Given the description of an element on the screen output the (x, y) to click on. 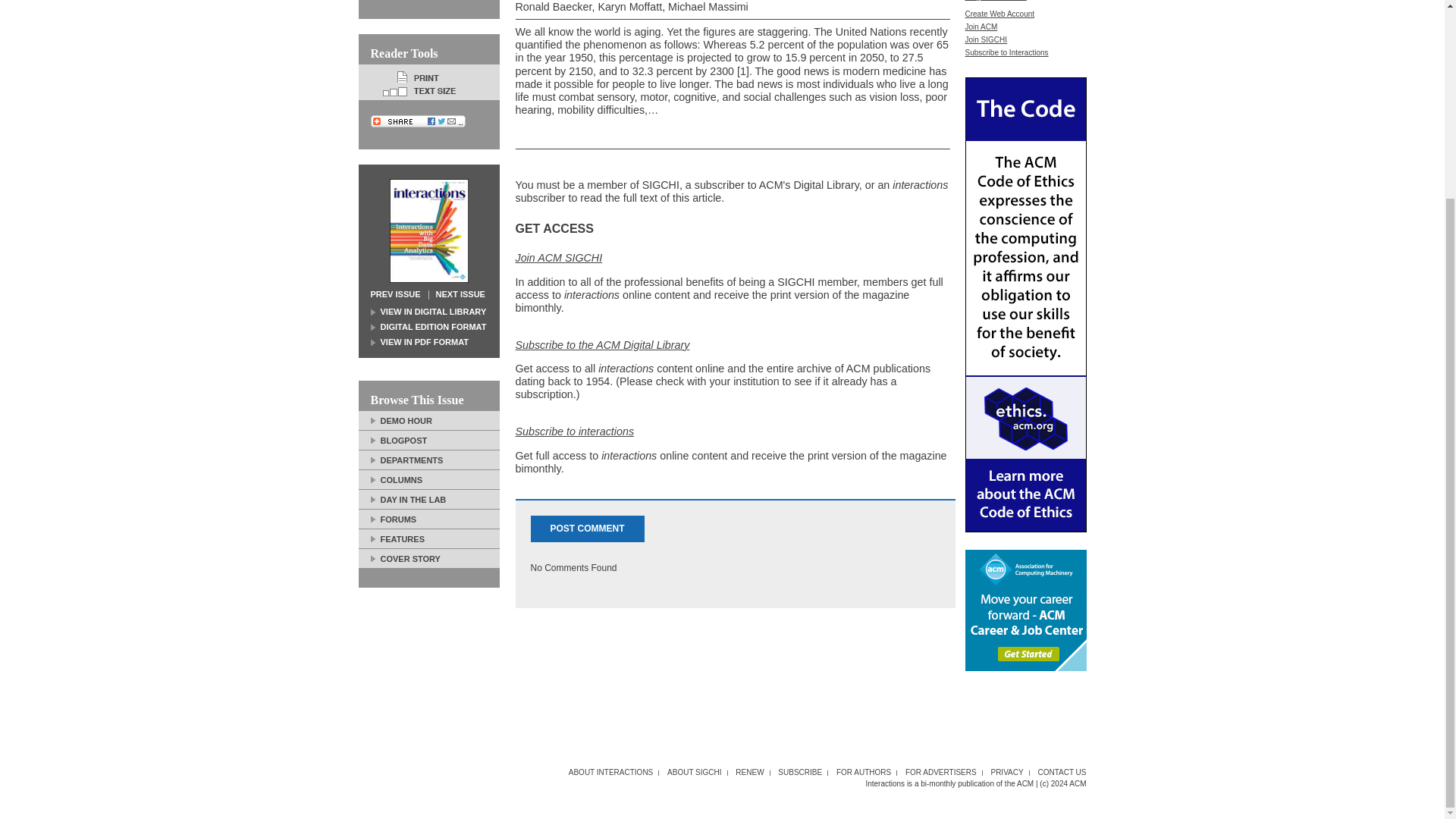
DIGITAL EDITION FORMAT (427, 326)
VIEW IN DIGITAL LIBRARY (427, 311)
VIEW IN PDF FORMAT (418, 341)
DEMO HOUR (399, 418)
BLOGPOST (397, 437)
NEXT ISSUE (459, 293)
Join ACM SIGCHI (558, 257)
Subscribe to the ACM Digital Library (602, 345)
PREV ISSUE (394, 293)
POST COMMENT (588, 528)
Subscribe to interactions (574, 431)
